Given the description of an element on the screen output the (x, y) to click on. 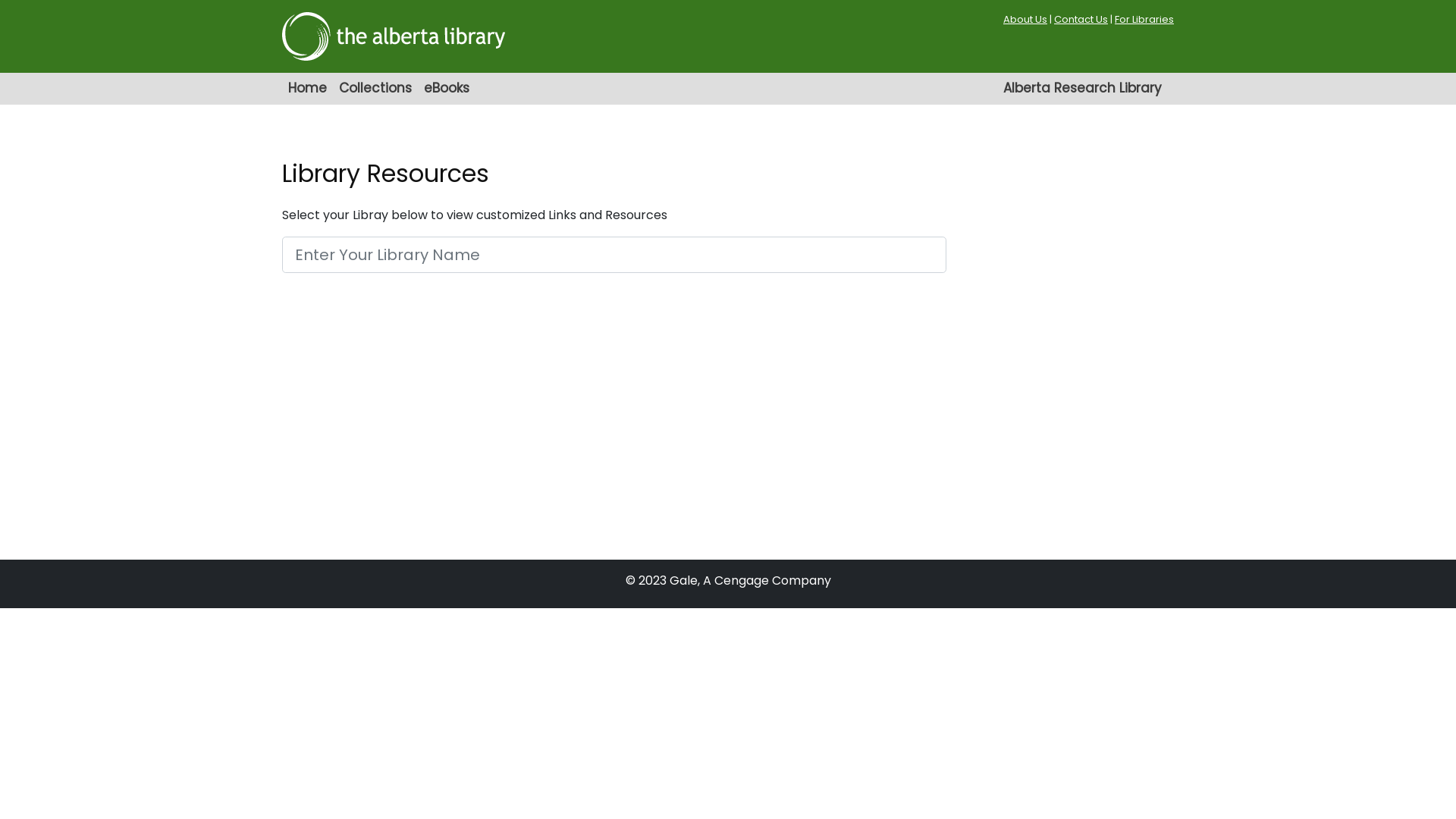
About Us Element type: text (1025, 19)
eBooks Element type: text (446, 88)
Contact Us Element type: text (1080, 19)
Collections Element type: text (374, 88)
Alberta Research Library Element type: text (1082, 88)
For Libraries Element type: text (1143, 19)
Home Element type: text (307, 88)
